Given the description of an element on the screen output the (x, y) to click on. 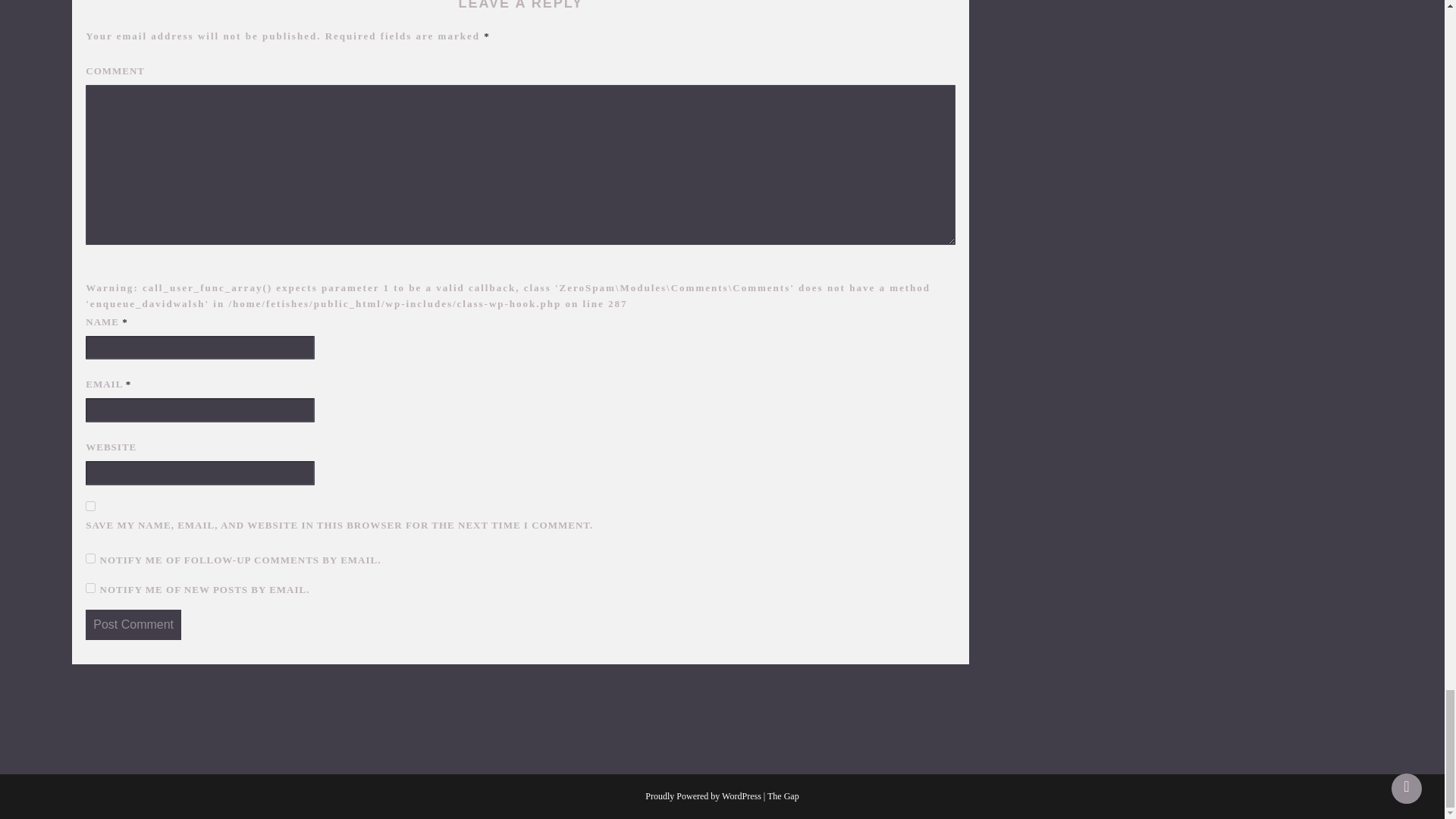
subscribe (90, 587)
yes (90, 506)
Post Comment (132, 624)
subscribe (90, 558)
